Given the description of an element on the screen output the (x, y) to click on. 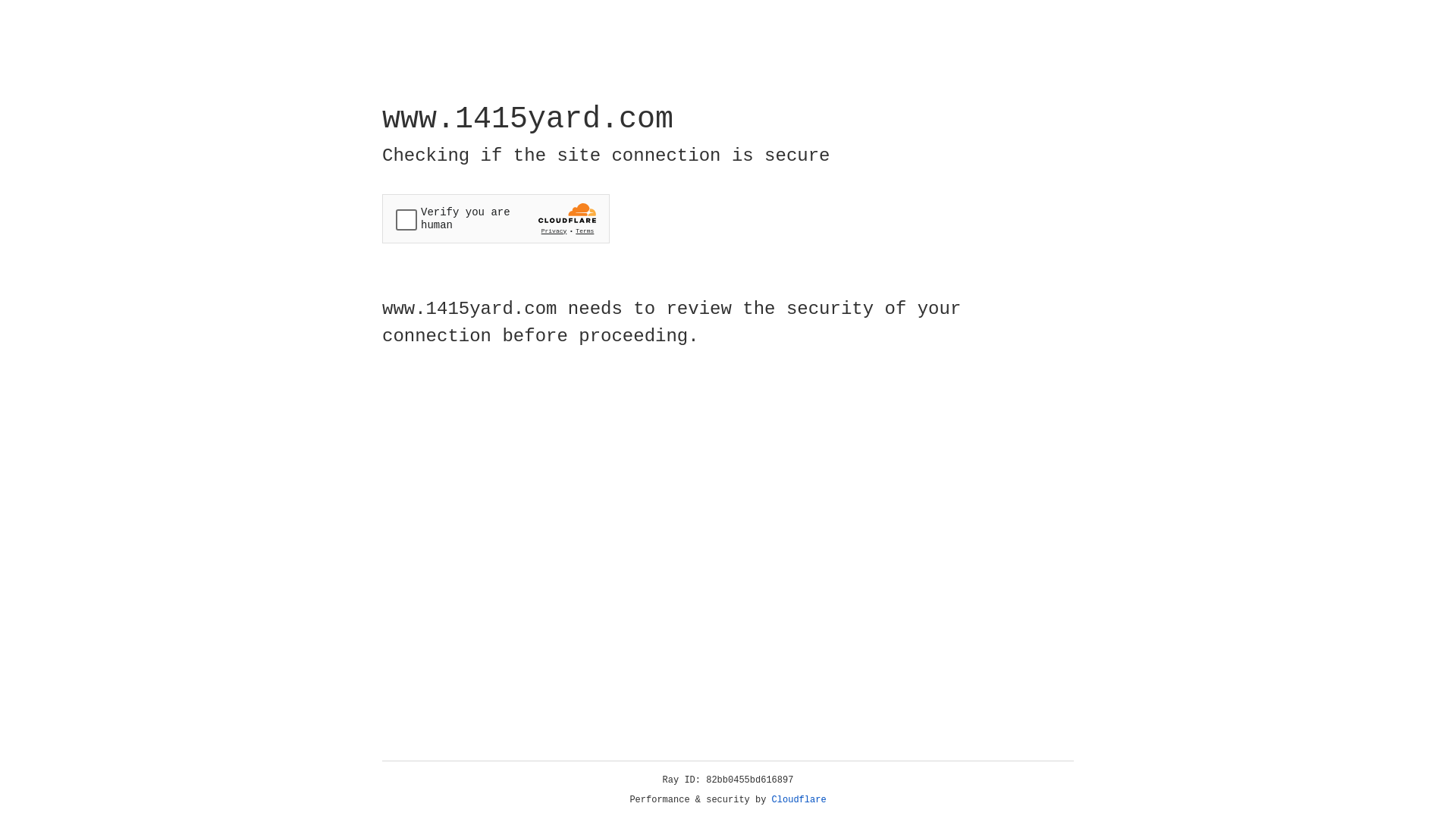
Widget containing a Cloudflare security challenge Element type: hover (495, 218)
Cloudflare Element type: text (798, 799)
